Given the description of an element on the screen output the (x, y) to click on. 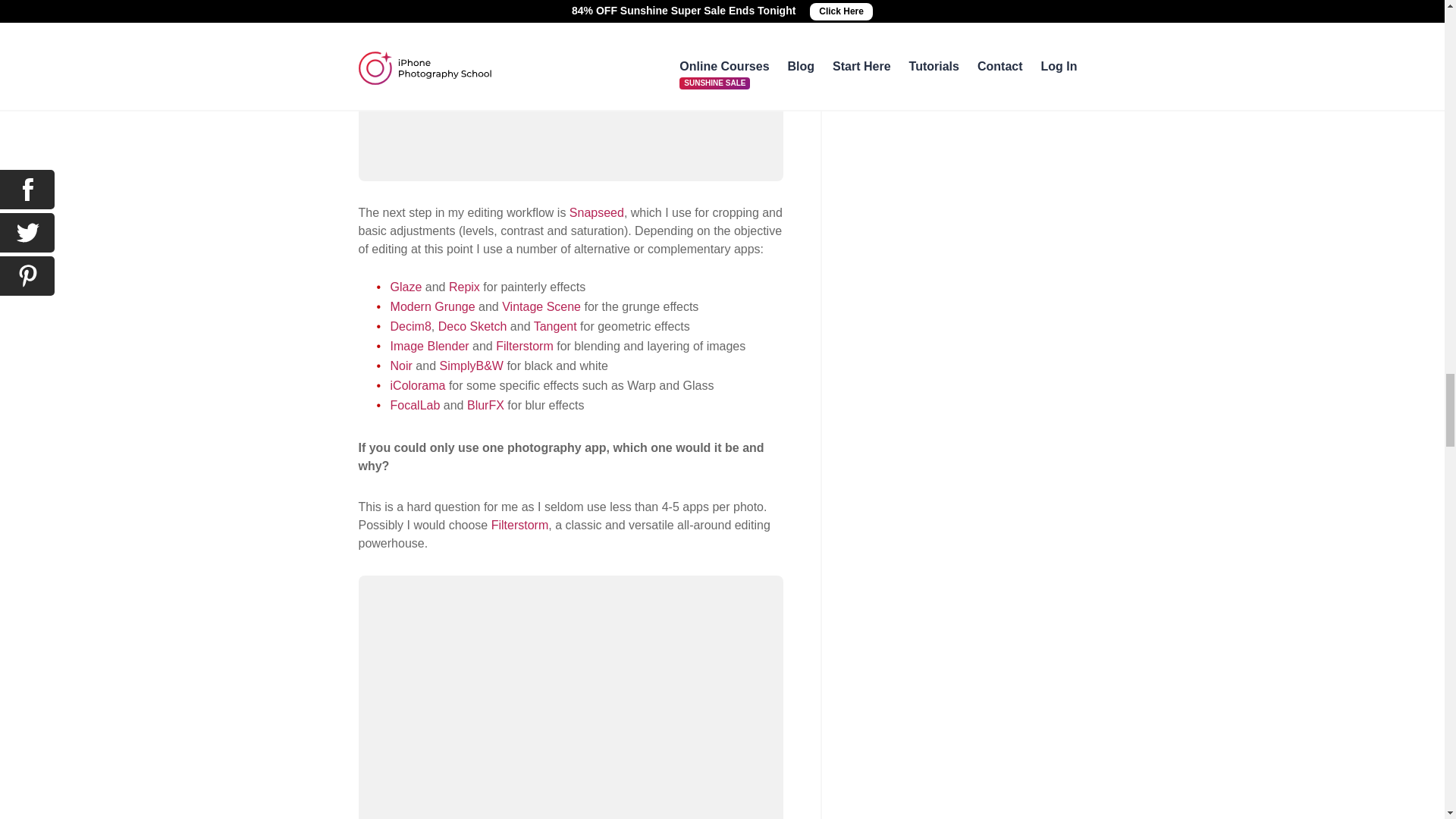
Glaze (406, 286)
Modern Grunge (433, 306)
Tangent (555, 326)
Image Blender (429, 345)
Vintage Scene (541, 306)
Repix (464, 286)
Filterstorm (524, 345)
Decim8 (410, 326)
Snapseed (596, 212)
Deco Sketch (472, 326)
